Given the description of an element on the screen output the (x, y) to click on. 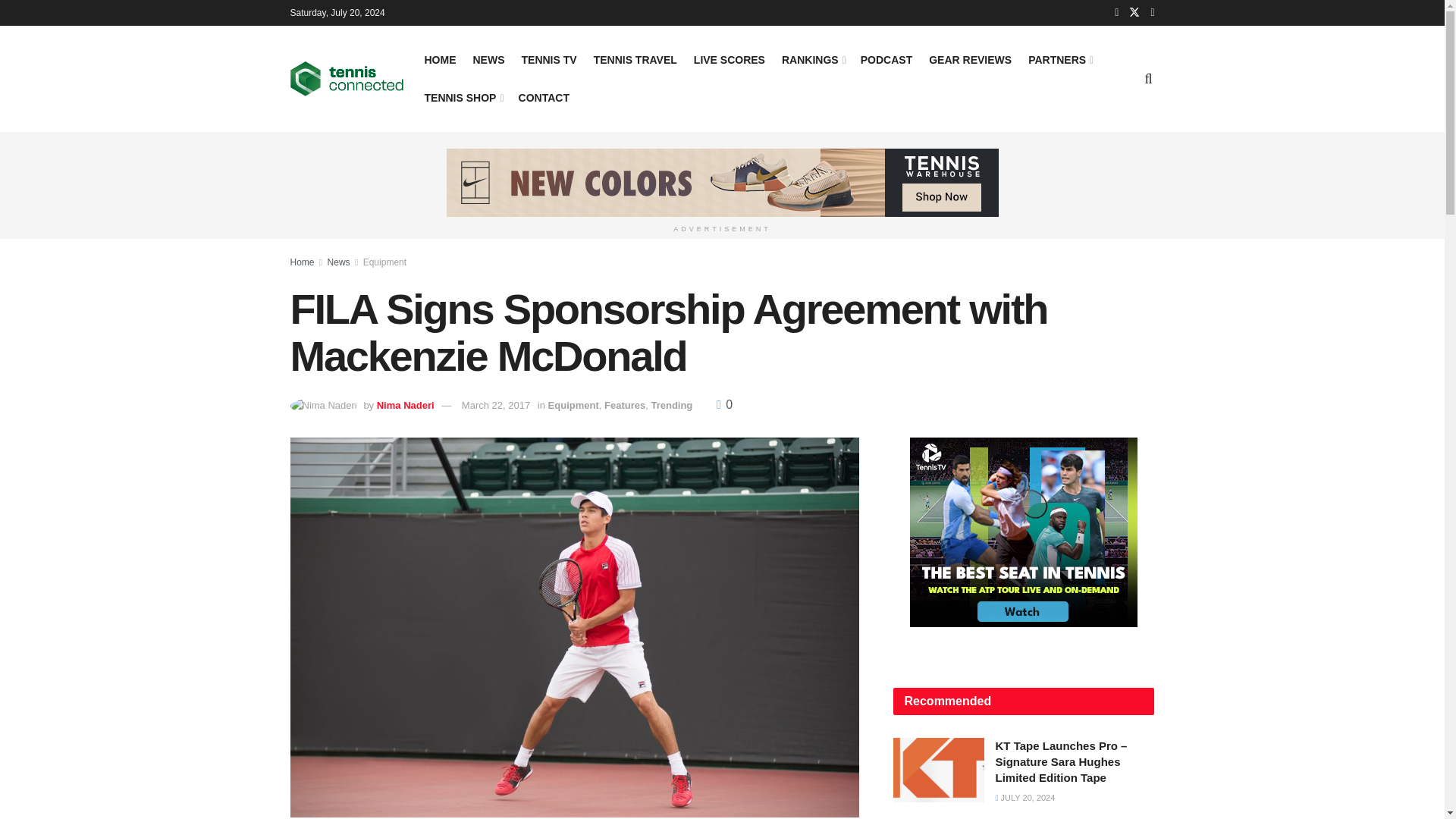
TENNIS TV (548, 59)
CONTACT (543, 97)
LIVE SCORES (729, 59)
RANKINGS (812, 59)
TENNIS TRAVEL (635, 59)
NEWS (489, 59)
PARTNERS (1058, 59)
TENNIS SHOP (463, 97)
HOME (441, 59)
GEAR REVIEWS (969, 59)
PODCAST (886, 59)
